Given the description of an element on the screen output the (x, y) to click on. 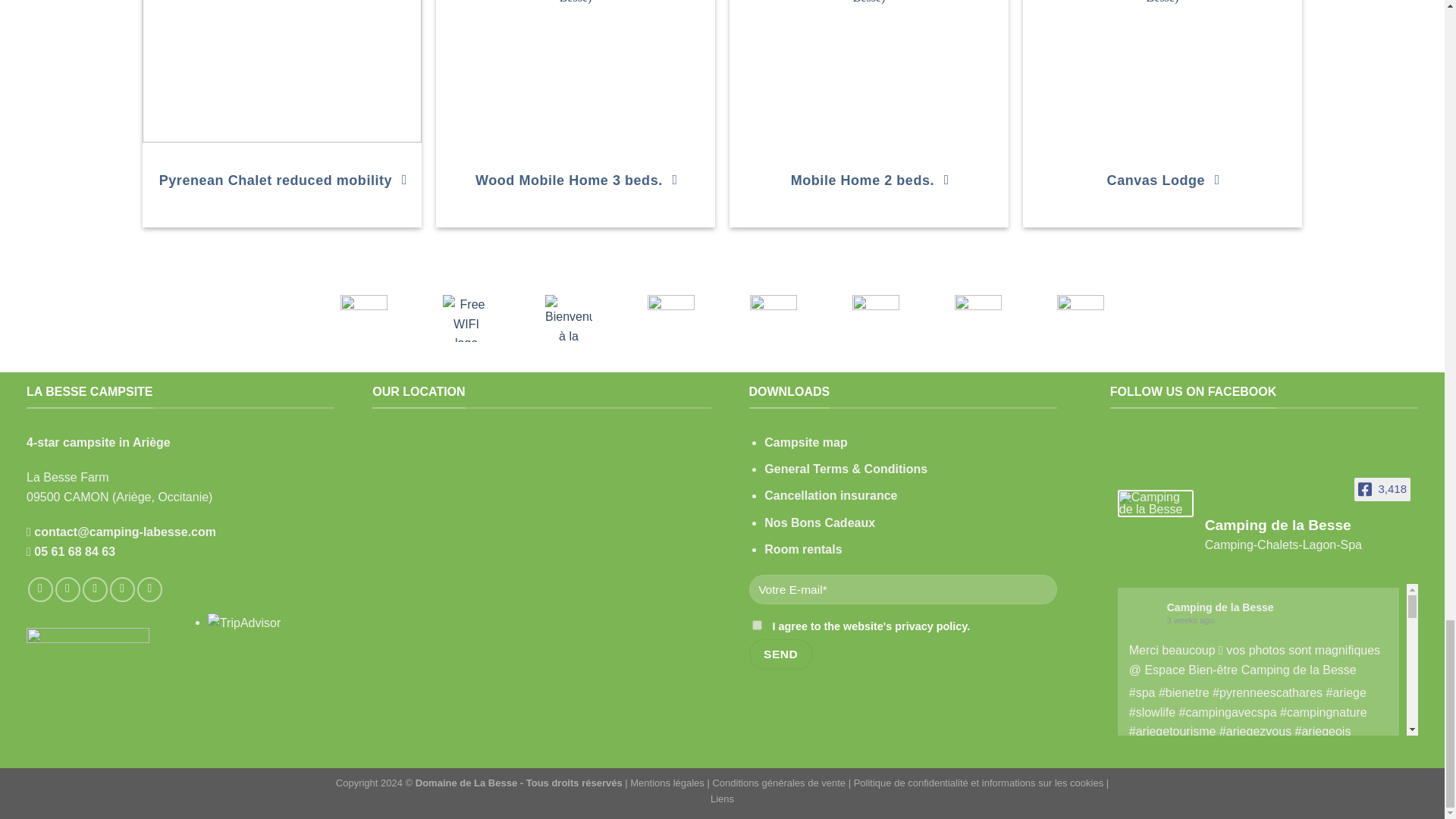
Send (780, 654)
1 (756, 624)
Follow on Facebook (39, 589)
